Given the description of an element on the screen output the (x, y) to click on. 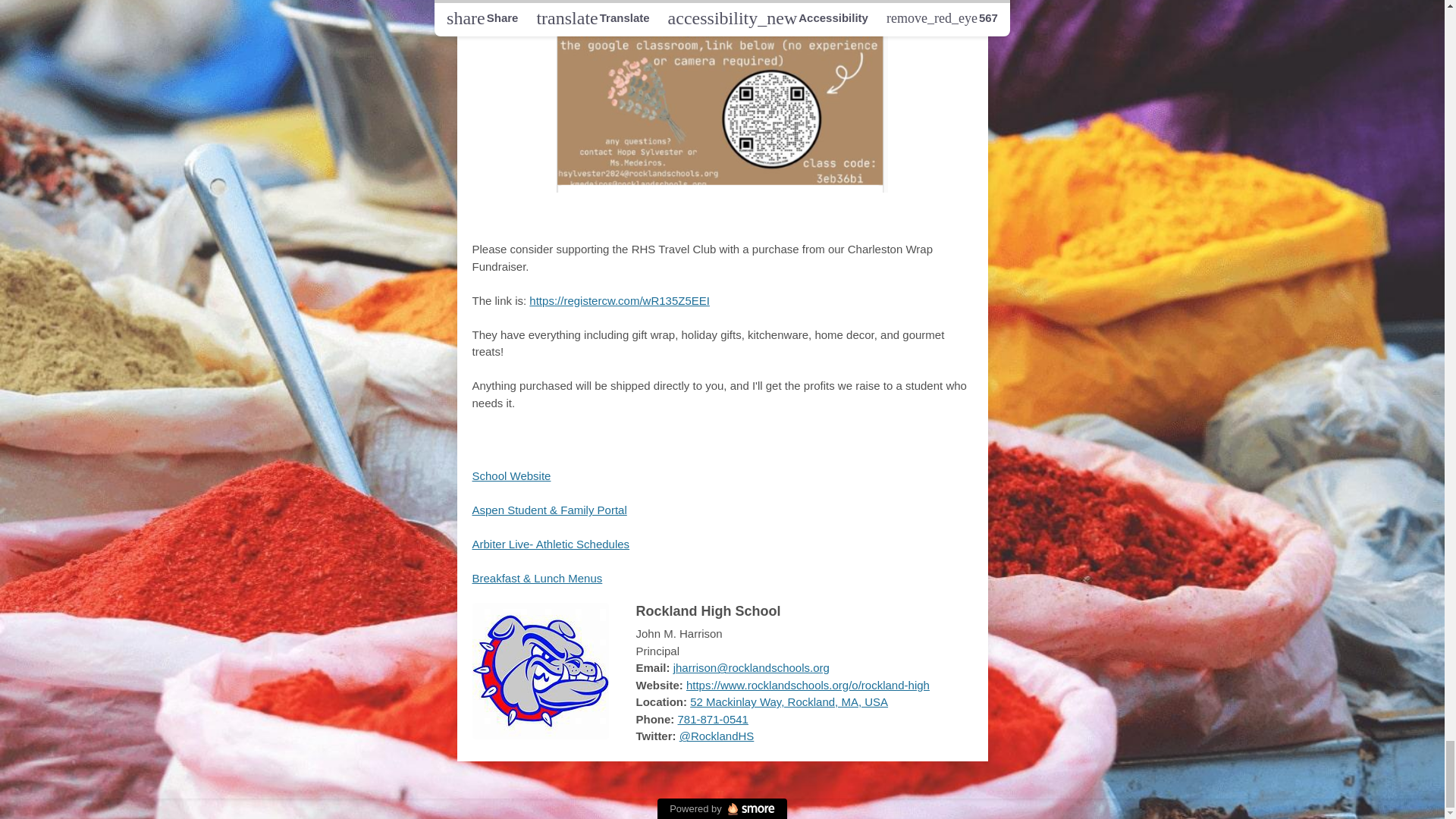
Arbiter Live- Athletic Schedules (549, 543)
Powered by Smore (721, 808)
781-871-0541 (713, 718)
52 Mackinlay Way, Rockland, MA, USA (789, 701)
School Website (510, 475)
